Given the description of an element on the screen output the (x, y) to click on. 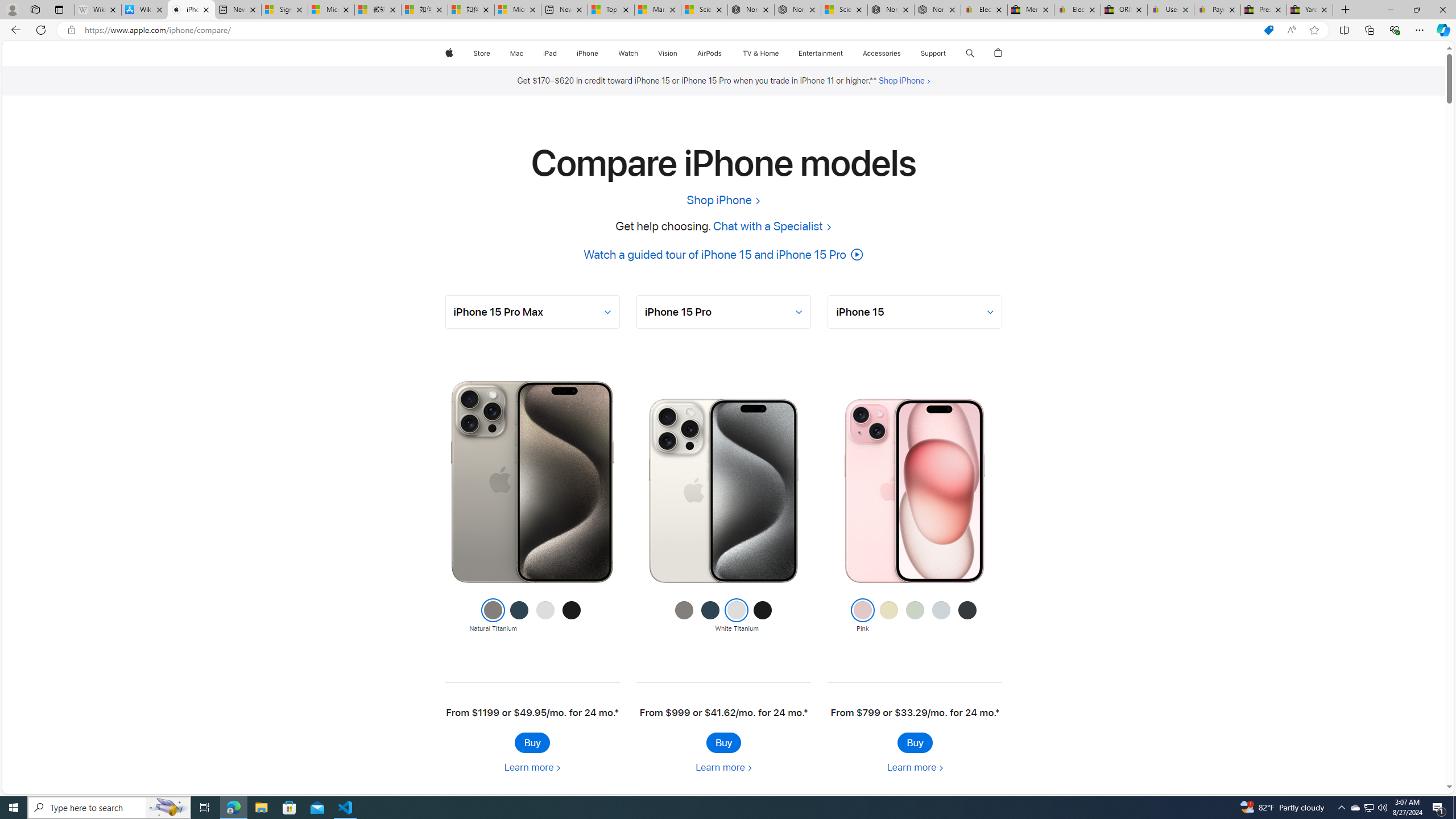
Learn more about iPhone 15 Pro (723, 767)
TV & Home (759, 53)
AirPods (709, 53)
Learn more about iPhone 15 Pro Max (531, 767)
Store menu (492, 53)
Buy iPhone 15 Pro (723, 742)
Mac (516, 53)
Search apple.com (969, 53)
Apple (448, 53)
